Given the description of an element on the screen output the (x, y) to click on. 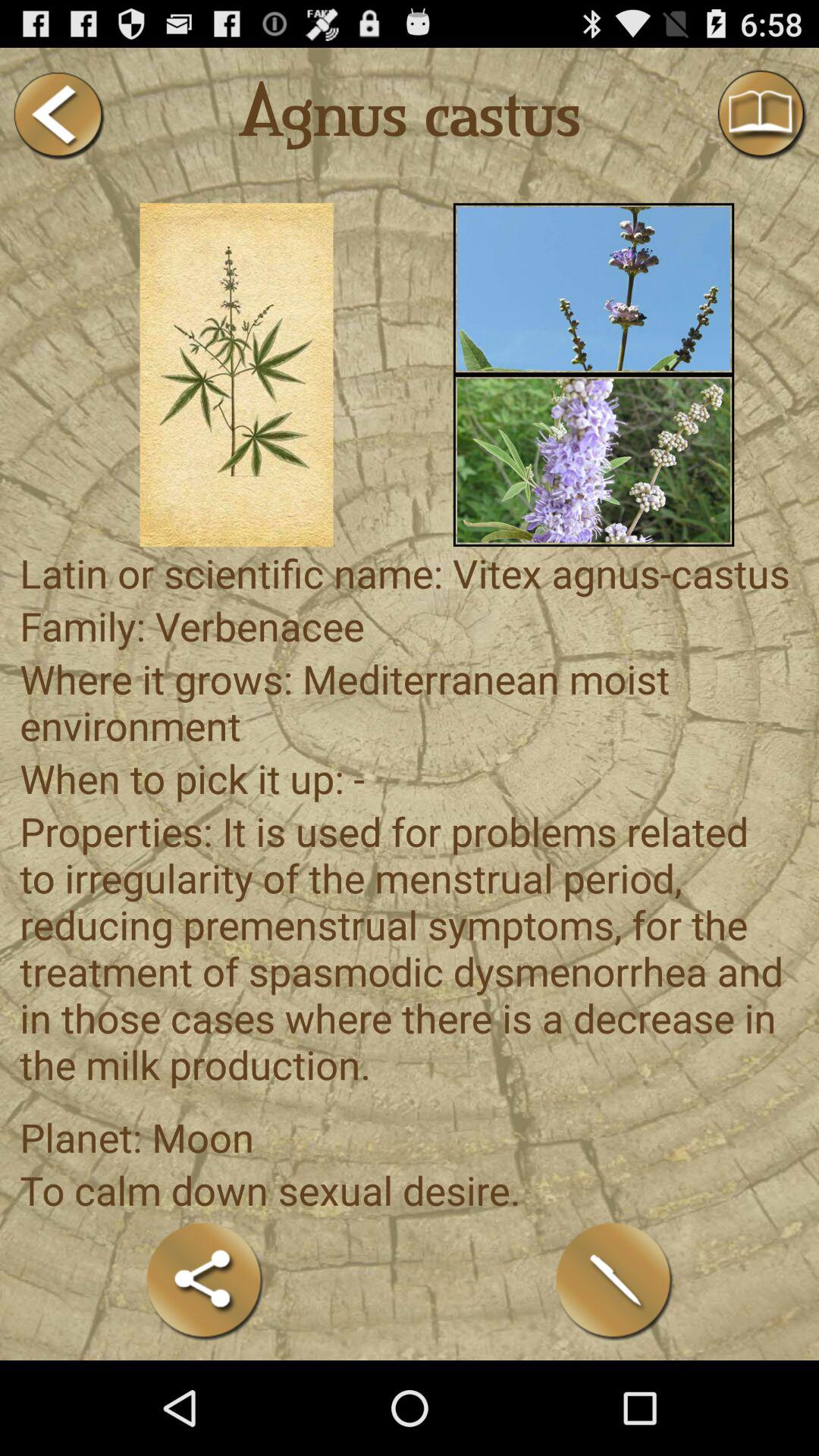
view selected image (236, 374)
